Given the description of an element on the screen output the (x, y) to click on. 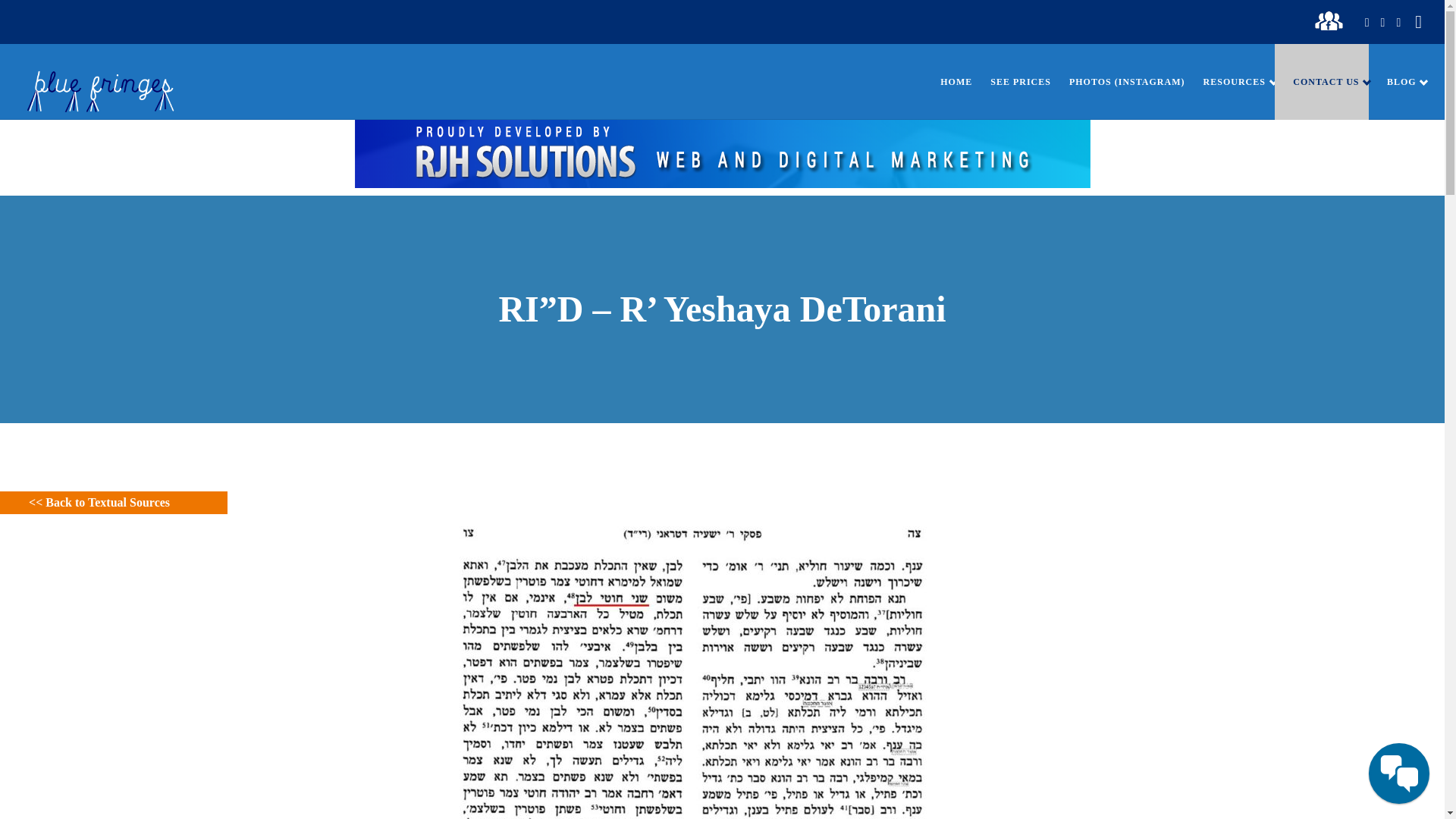
RESOURCES (1230, 81)
CONTACT US (1321, 81)
SEE PRICES (1011, 81)
